Given the description of an element on the screen output the (x, y) to click on. 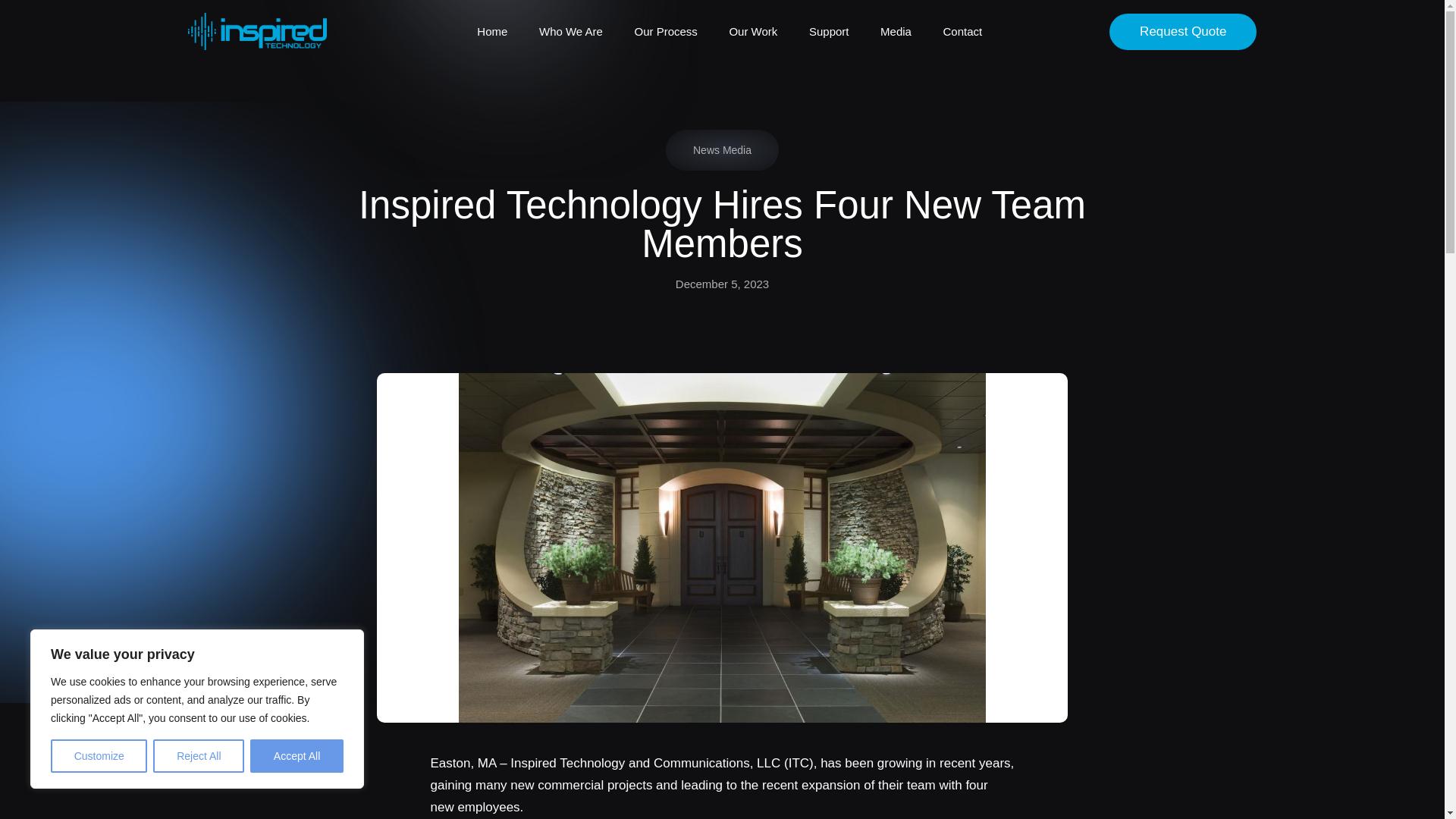
Our Work (753, 31)
Who We Are (570, 31)
Support (828, 31)
Accept All (296, 756)
Customize (98, 756)
Contact (962, 31)
Our Process (665, 31)
Home (491, 31)
Reject All (198, 756)
Media (895, 31)
